Given the description of an element on the screen output the (x, y) to click on. 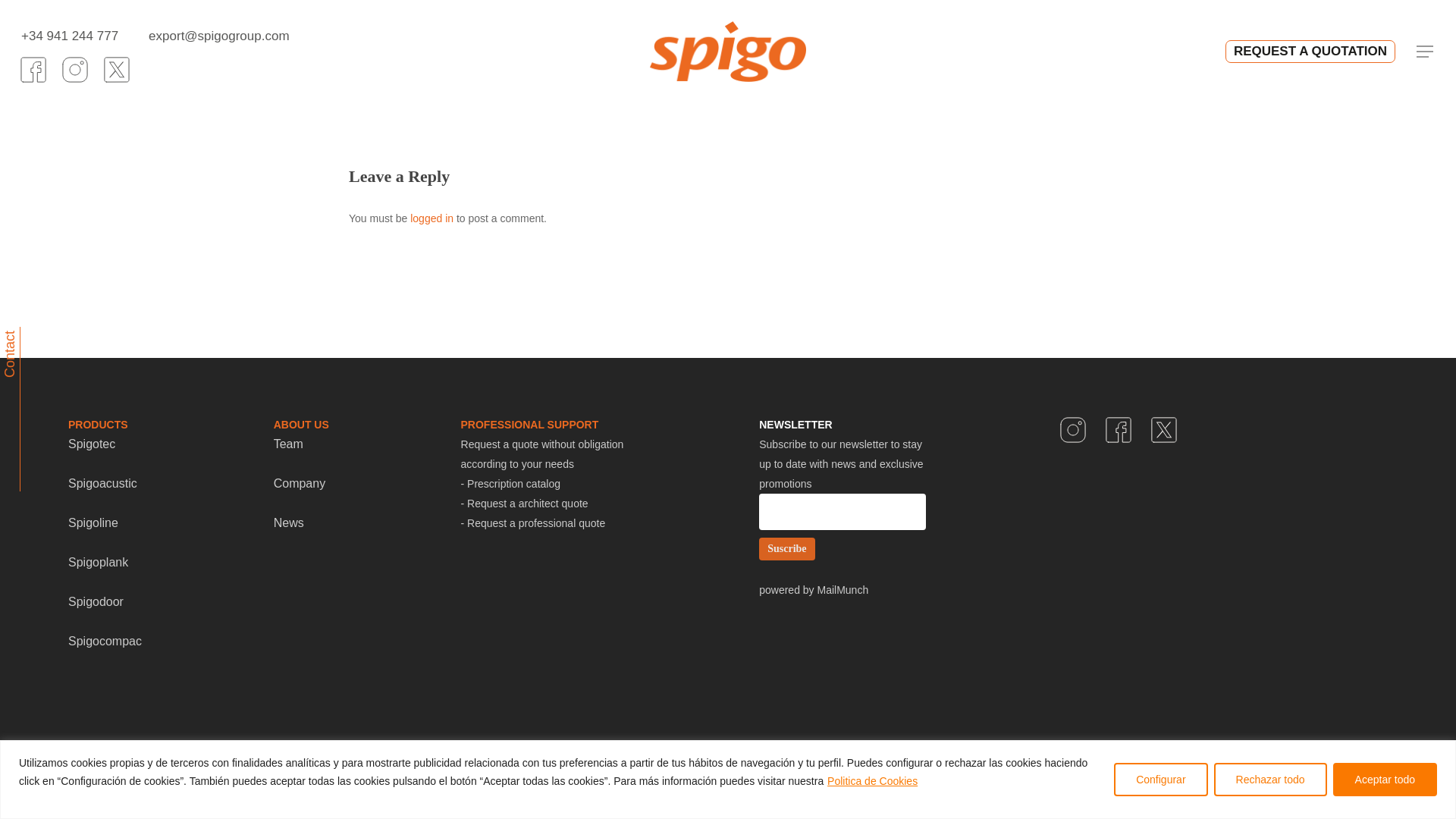
Suscribe (785, 548)
